Given the description of an element on the screen output the (x, y) to click on. 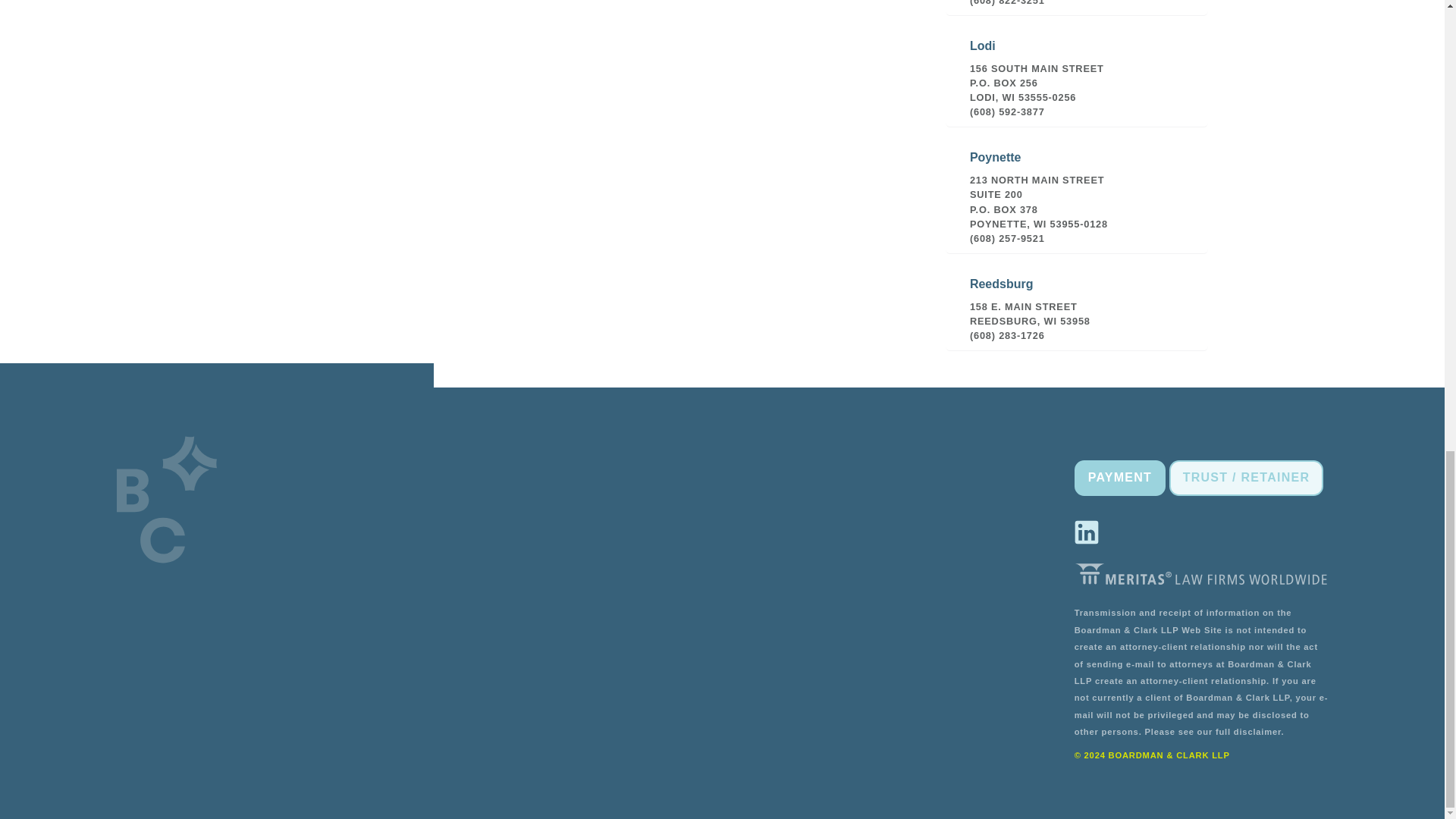
Poynette (1076, 191)
Lodi (1076, 72)
Reedsburg (1076, 304)
Fennimore (1076, 7)
